Given the description of an element on the screen output the (x, y) to click on. 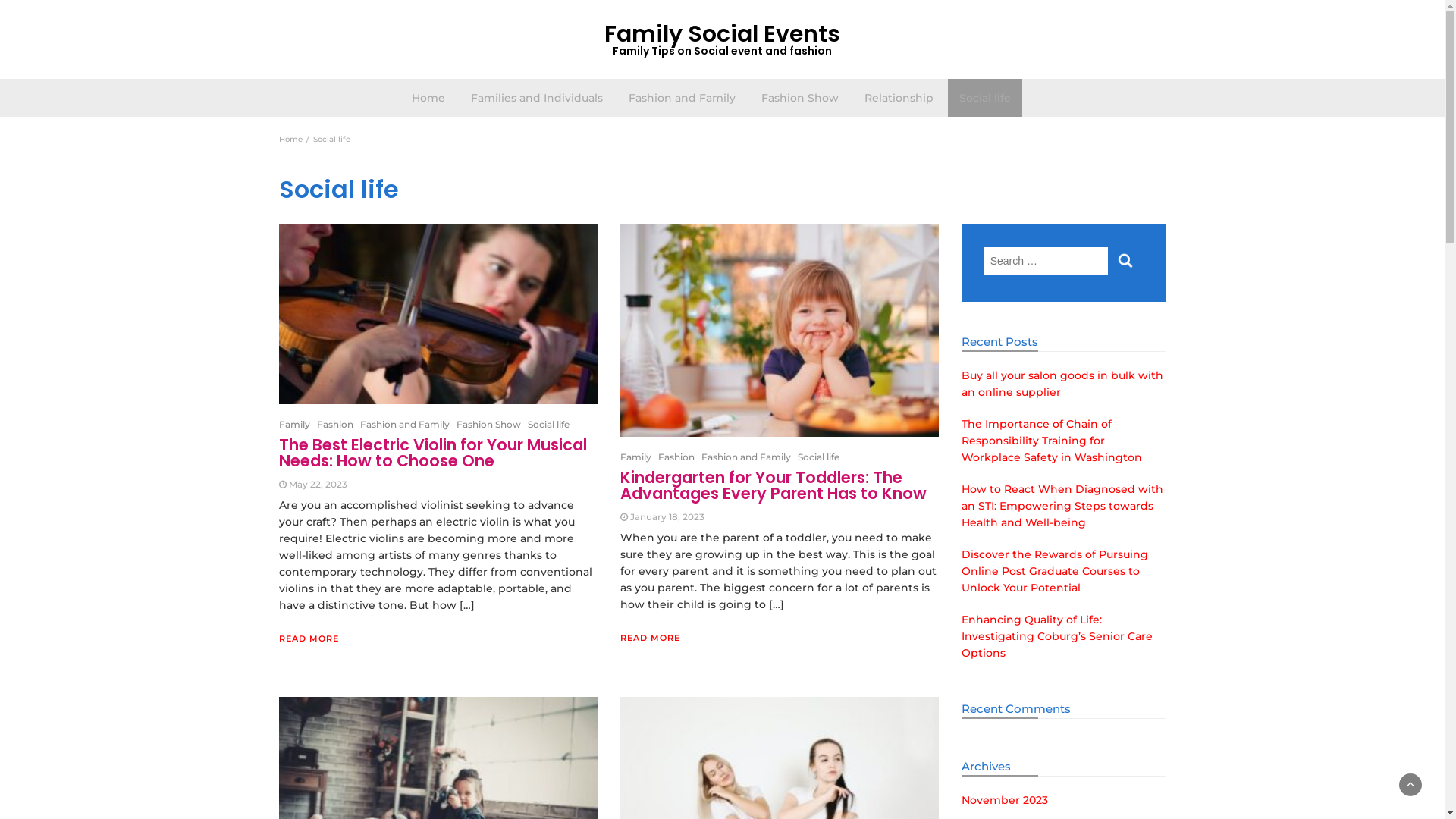
Fashion and Family Element type: text (681, 97)
Family Element type: text (635, 456)
January 18, 2023 Element type: text (666, 516)
Family Element type: text (294, 423)
Buy all your salon goods in bulk with an online supplier Element type: text (1062, 383)
Families and Individuals Element type: text (536, 97)
Social life Element type: text (818, 456)
Search for: Element type: hover (1046, 261)
Home Element type: text (290, 139)
Fashion Element type: text (676, 456)
READ MORE Element type: text (650, 637)
November 2023 Element type: text (1004, 799)
Social life Element type: text (984, 97)
READ MORE Element type: text (308, 638)
Family Social Events
Family Tips on Social event and fashion Element type: text (722, 39)
Relationship Element type: text (898, 97)
Search Element type: text (1124, 261)
Fashion Show Element type: text (799, 97)
Fashion Element type: text (334, 423)
Social life Element type: text (548, 423)
Fashion and Family Element type: text (403, 423)
May 22, 2023 Element type: text (317, 483)
Fashion and Family Element type: text (745, 456)
Home Element type: text (428, 97)
Fashion Show Element type: text (488, 423)
